Given the description of an element on the screen output the (x, y) to click on. 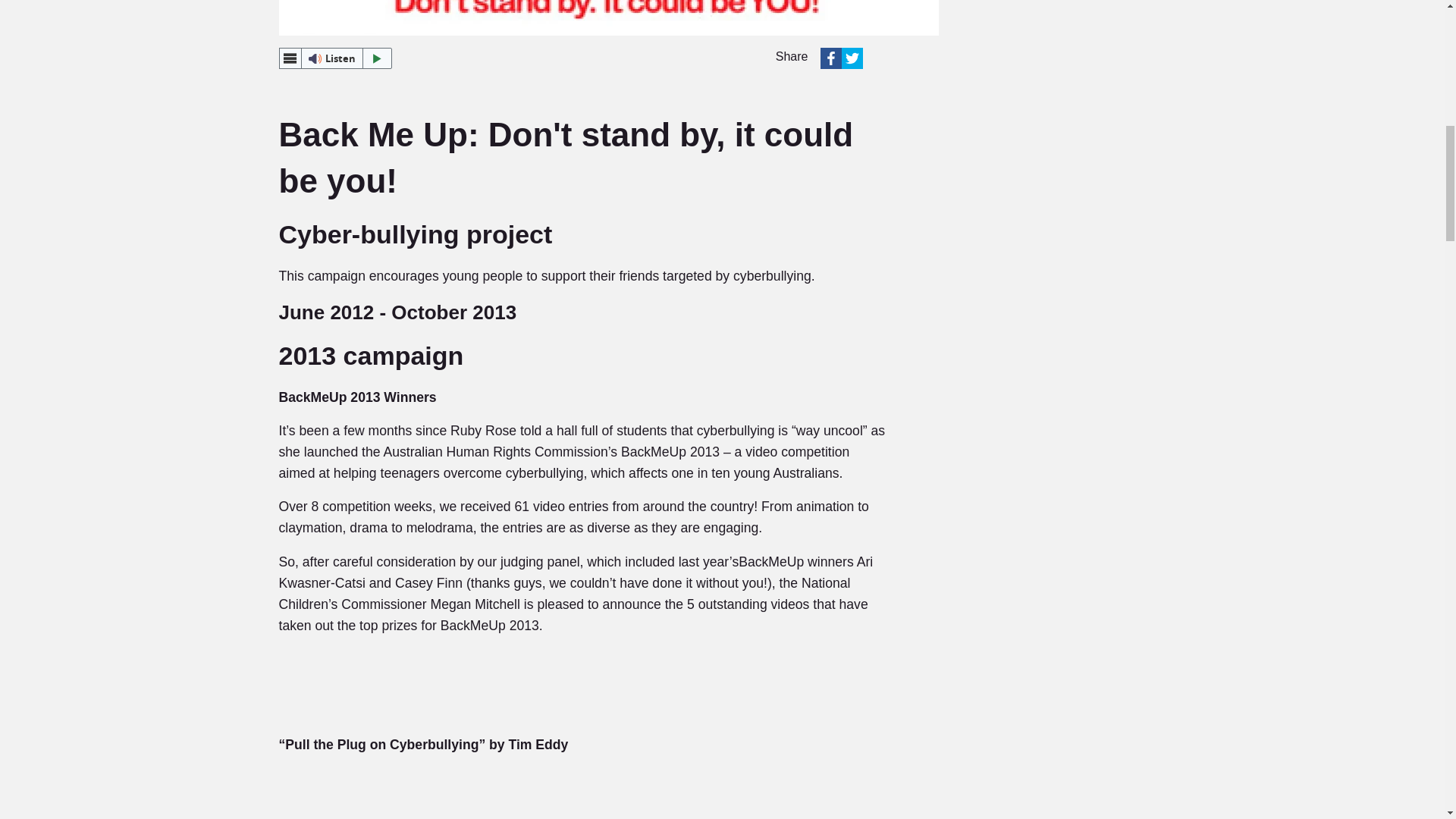
Pull The Plug On Cyberbullying (437, 814)
webReader menu (290, 57)
Listen to this page using ReadSpeaker webReader (336, 57)
